Given the description of an element on the screen output the (x, y) to click on. 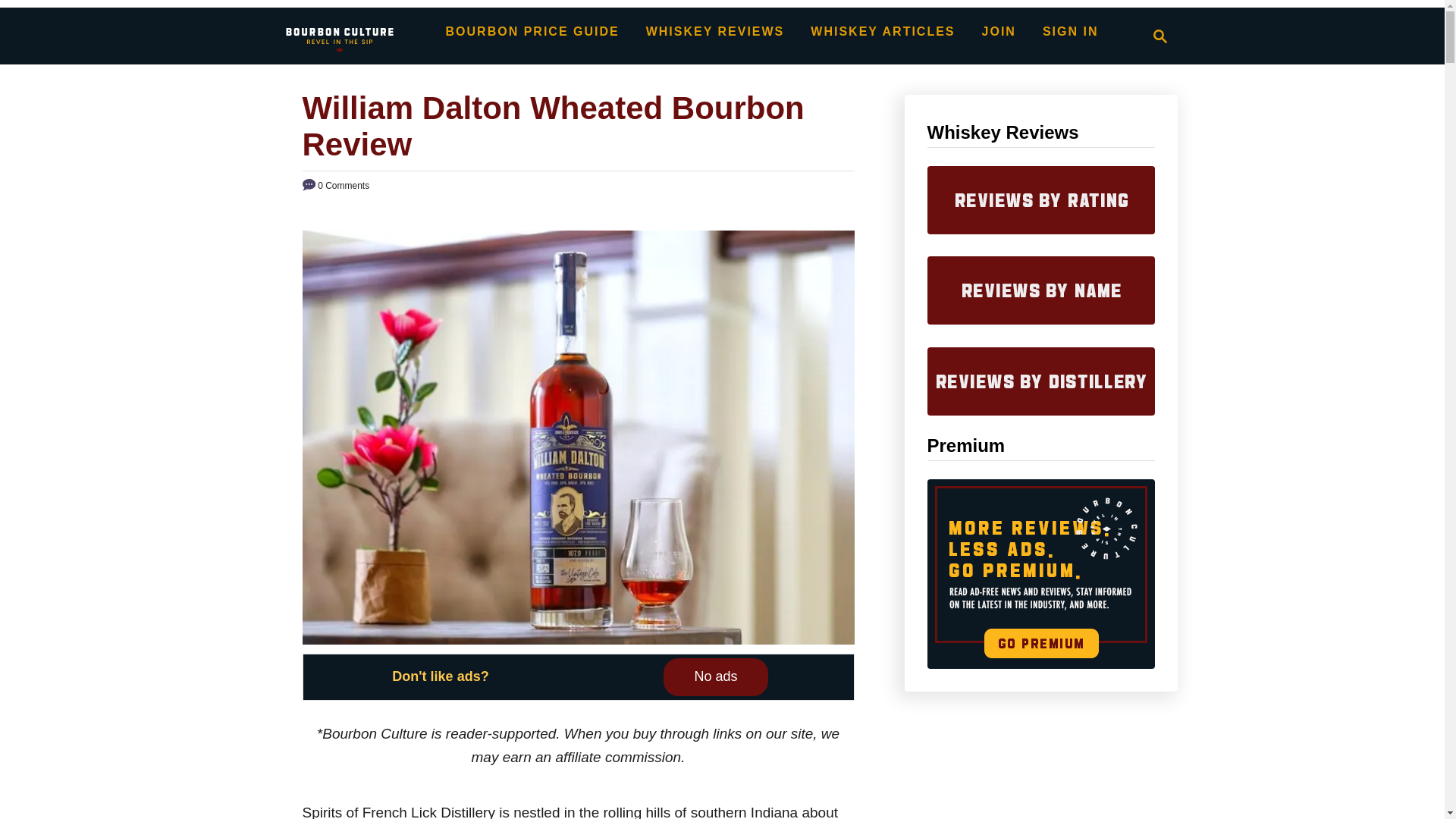
JOIN (998, 31)
WHISKEY ARTICLES (882, 31)
BOURBON PRICE GUIDE (1155, 36)
No ads (532, 31)
Magnifying Glass (715, 676)
Bourbon Culture (1160, 36)
WHISKEY REVIEWS (339, 35)
SIGN IN (715, 31)
